Given the description of an element on the screen output the (x, y) to click on. 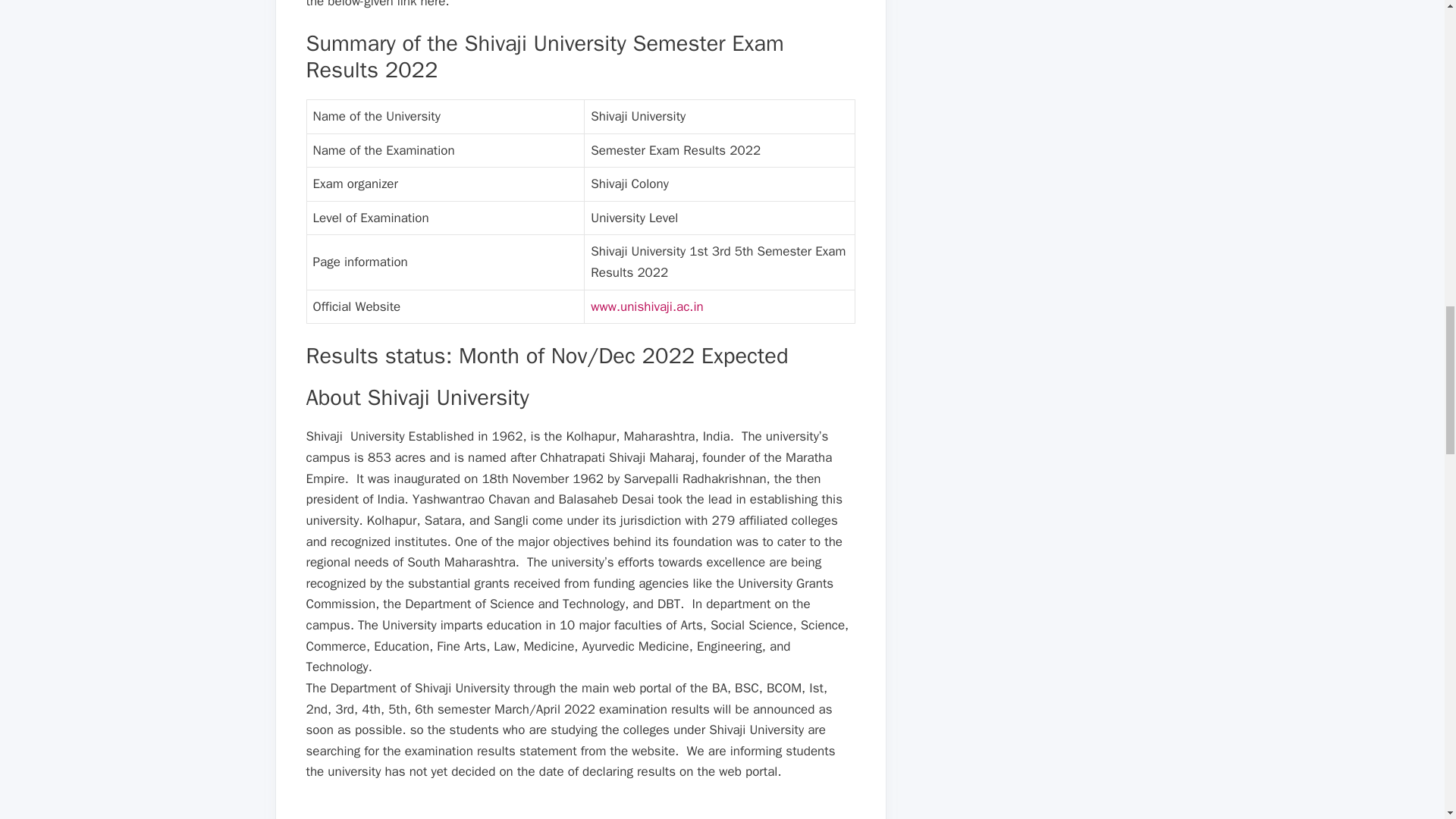
Advertisement (580, 810)
www.unishivaji.ac.in (647, 306)
